Given the description of an element on the screen output the (x, y) to click on. 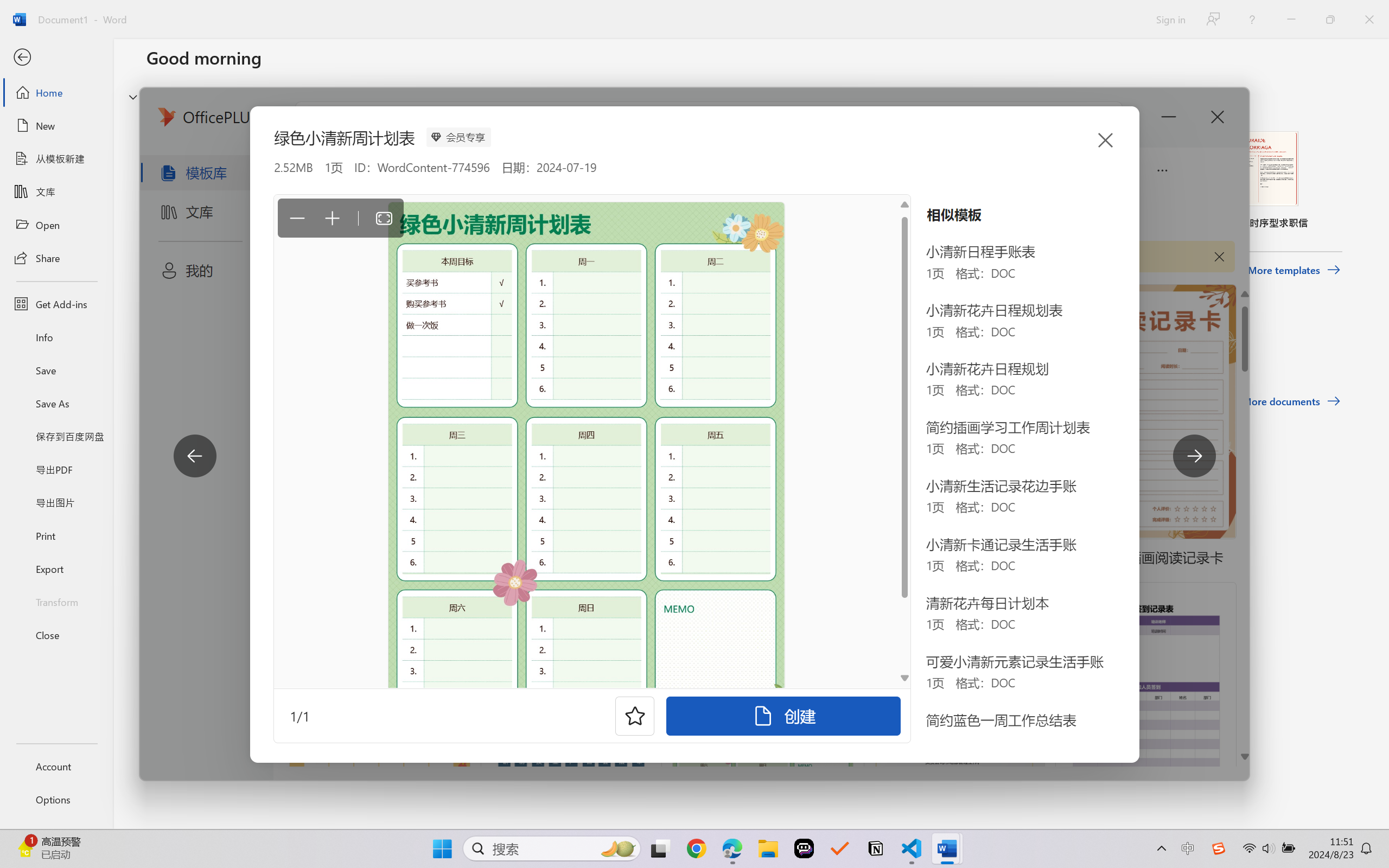
Get Add-ins (56, 303)
Save As (56, 403)
